Given the description of an element on the screen output the (x, y) to click on. 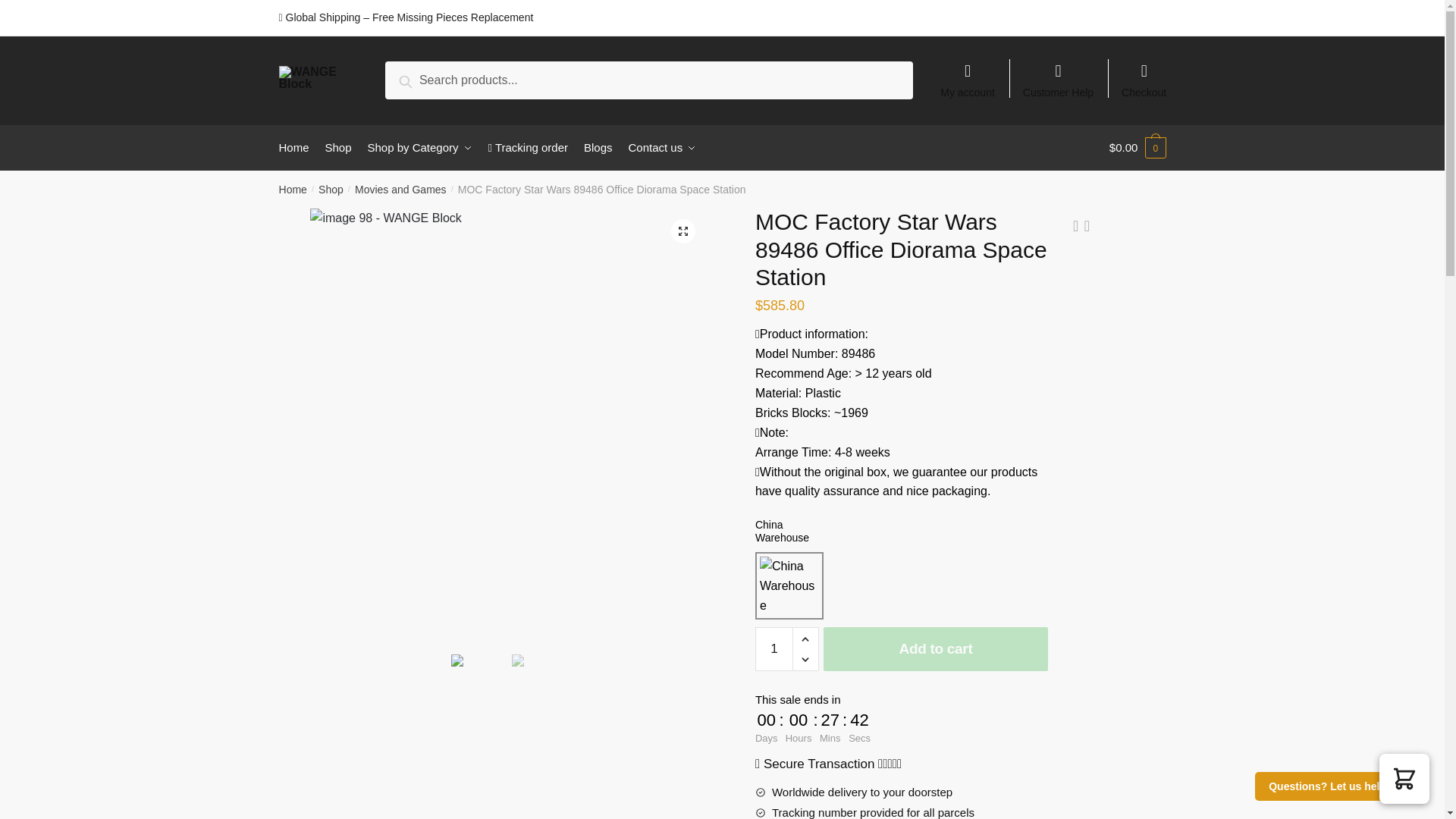
Shop (330, 189)
Shop by Category (419, 147)
View your shopping cart (1137, 147)
My account (967, 73)
Home (298, 147)
1 (774, 648)
Checkout (1144, 73)
Movies and Games (400, 189)
Search (422, 78)
Contact us (662, 147)
Home (293, 189)
Shop (338, 147)
Blogs (598, 147)
Customer Help (1058, 73)
